Given the description of an element on the screen output the (x, y) to click on. 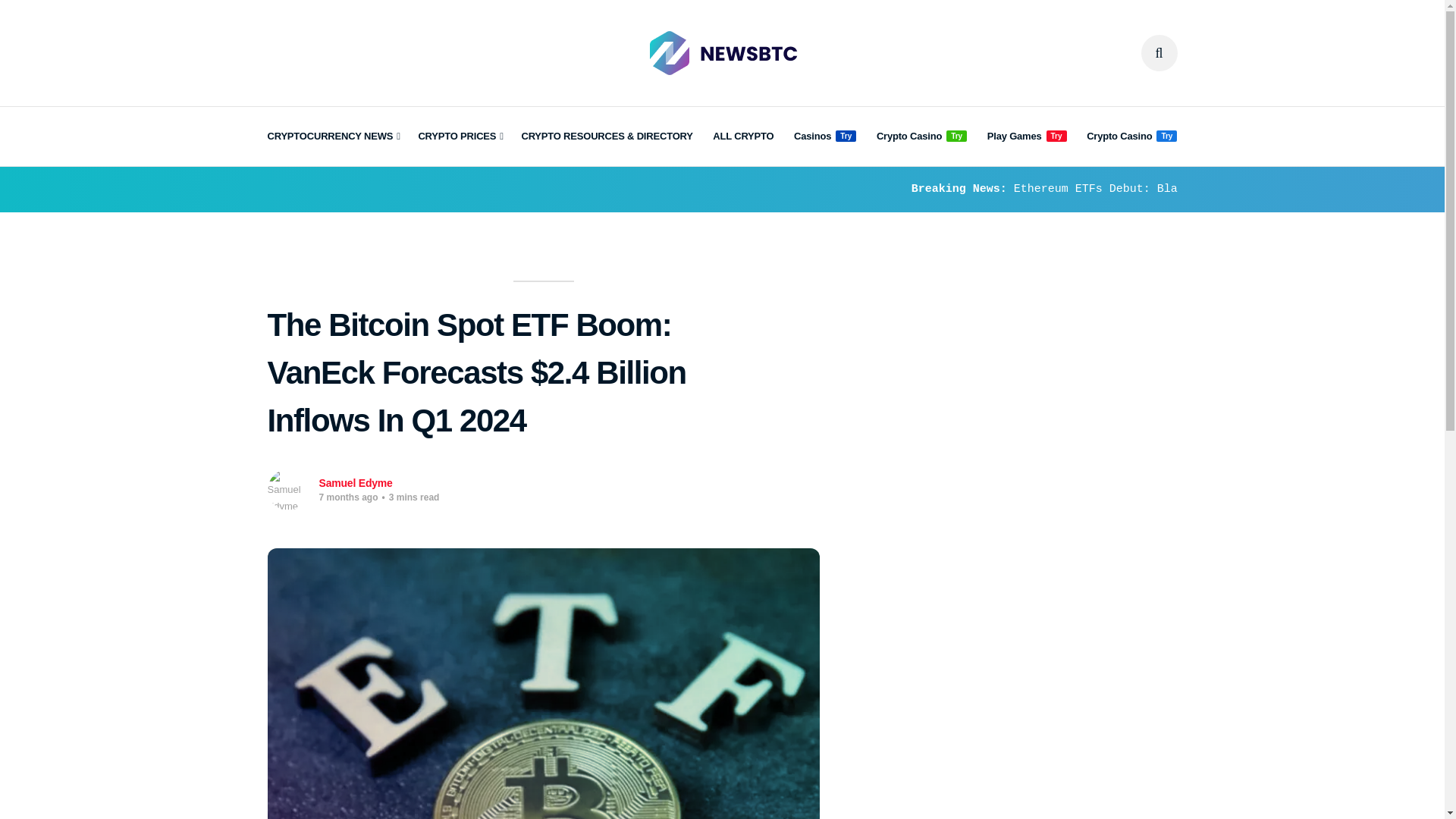
CRYPTOCURRENCY NEWS (331, 136)
ALL CRYPTO (743, 136)
CRYPTO PRICES (458, 136)
